Given the description of an element on the screen output the (x, y) to click on. 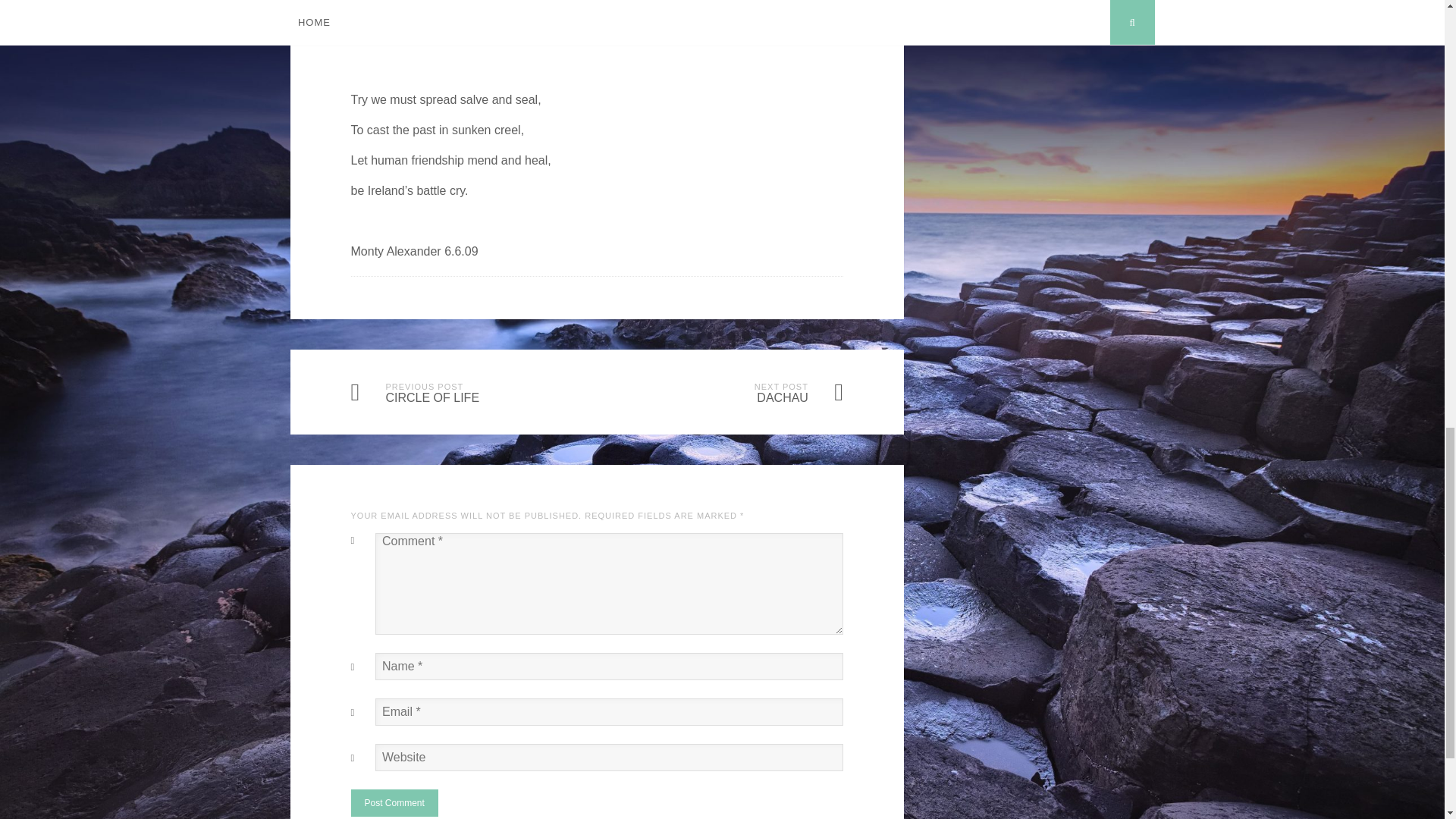
Post Comment (394, 802)
Post Comment (394, 802)
